Given the description of an element on the screen output the (x, y) to click on. 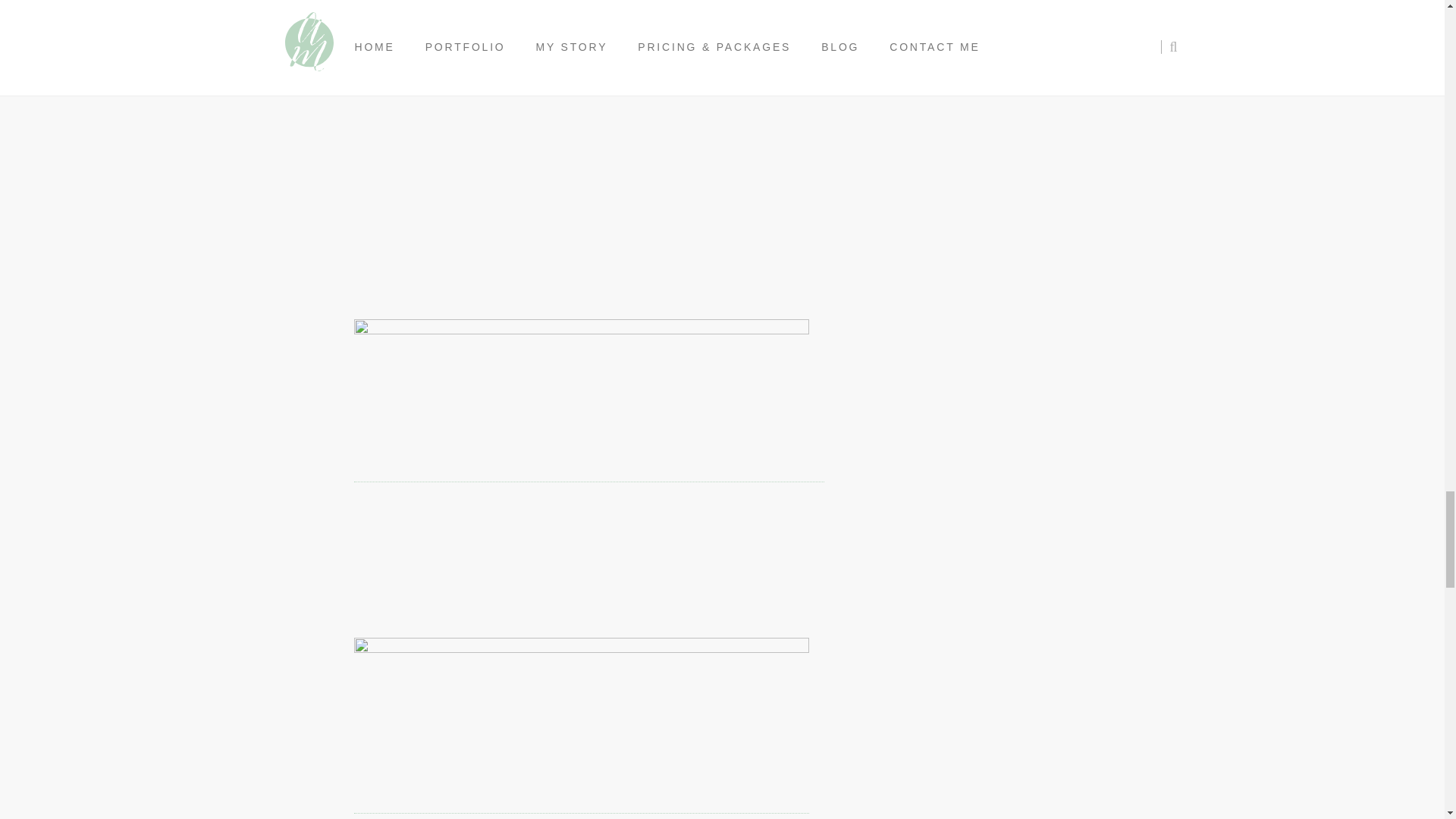
jenbb (581, 728)
